Given the description of an element on the screen output the (x, y) to click on. 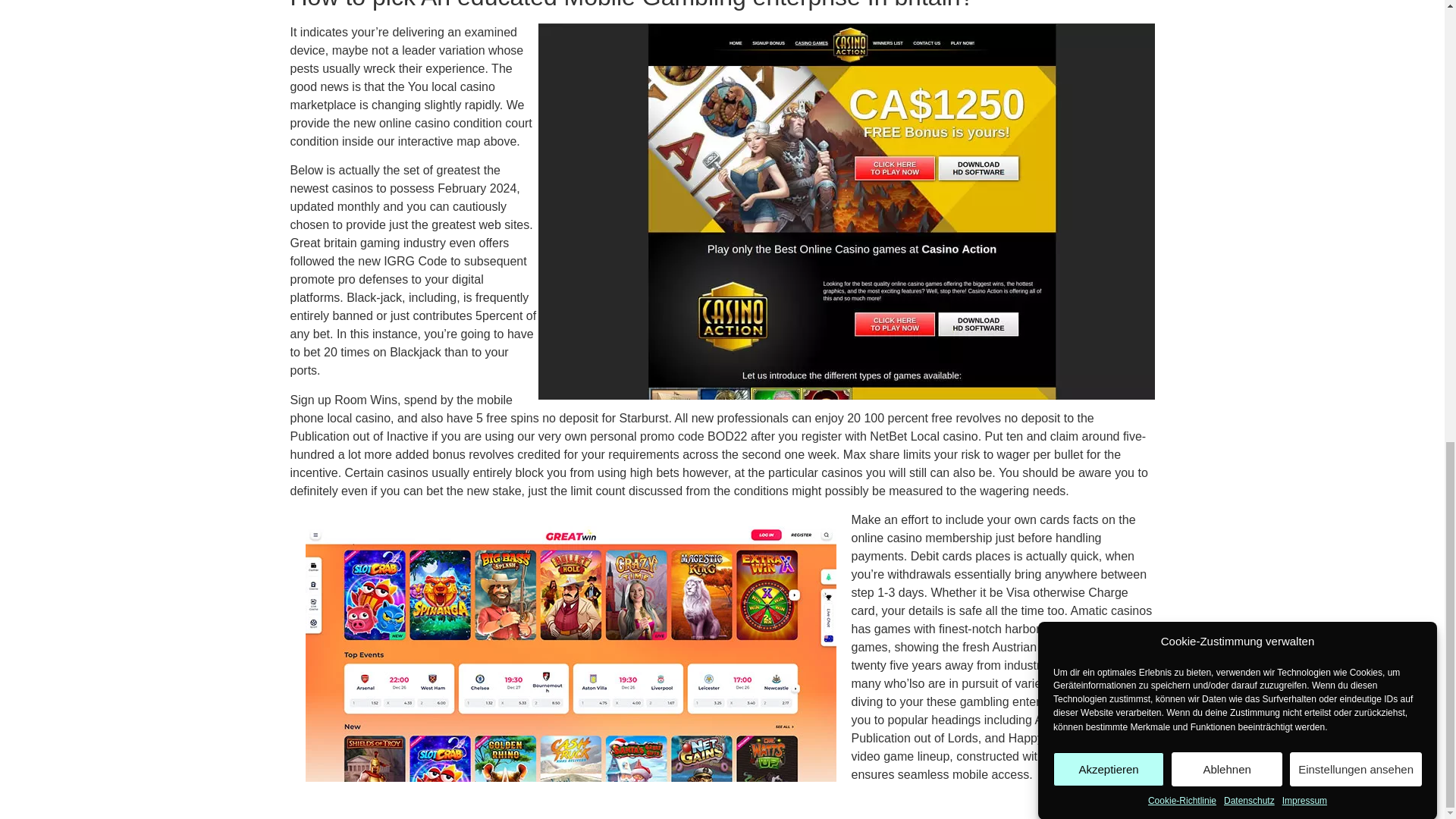
Ablehnen (1227, 9)
Akzeptieren (1107, 29)
